Given the description of an element on the screen output the (x, y) to click on. 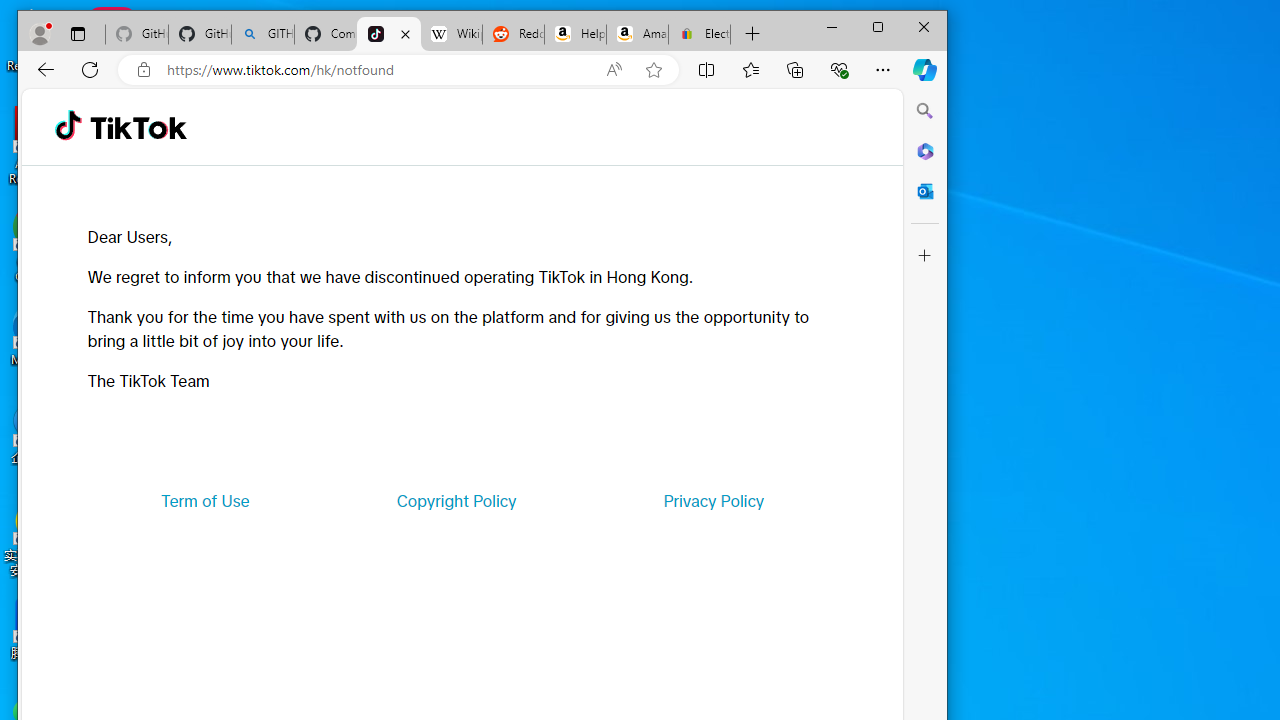
Maximize (878, 26)
Amazon.com: Deals (637, 34)
Term of Use (205, 500)
GITHUB - Search (262, 34)
Copyright Policy (456, 500)
